Given the description of an element on the screen output the (x, y) to click on. 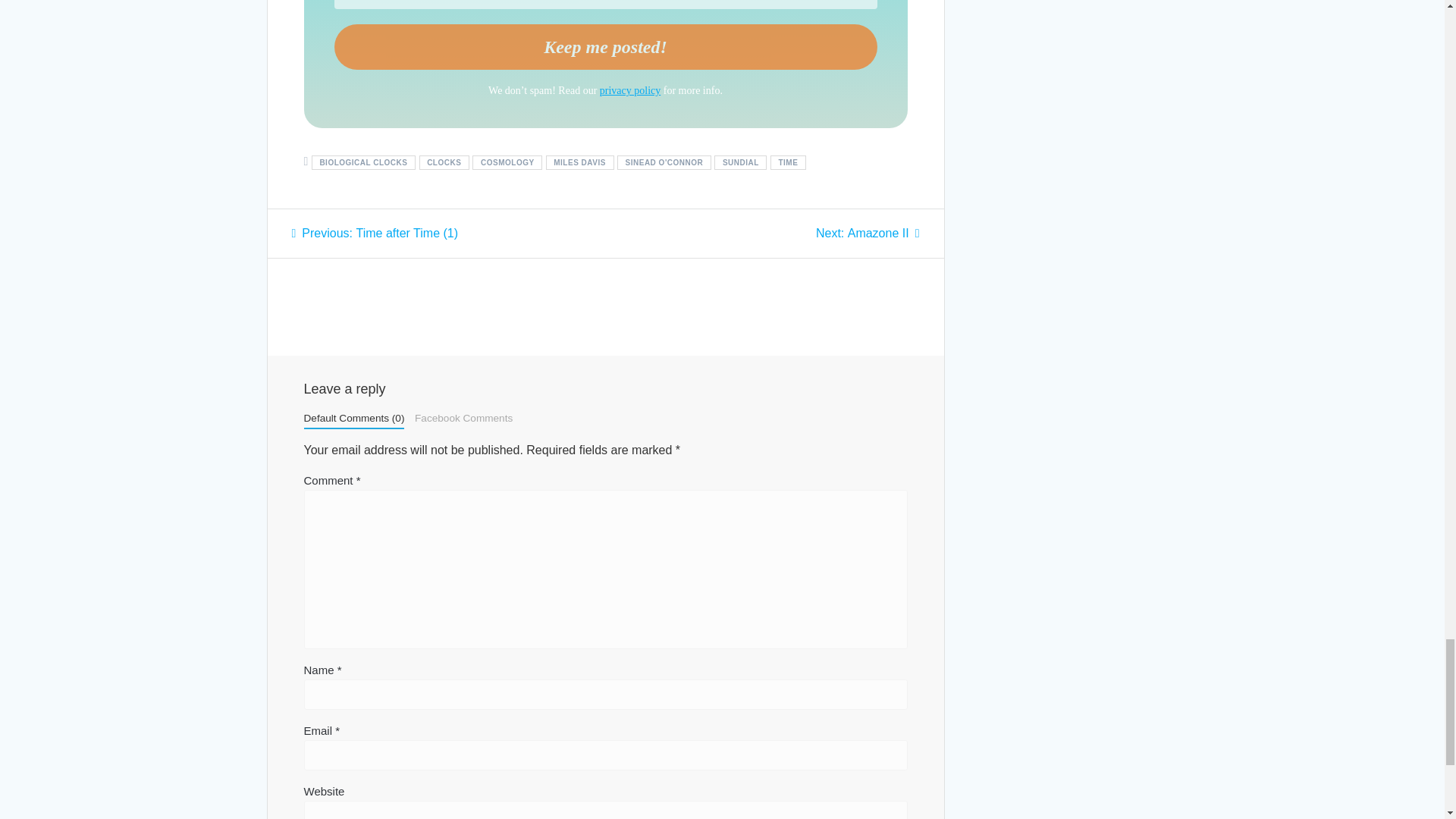
privacy policy (630, 90)
BIOLOGICAL CLOCKS (362, 162)
Keep me posted! (604, 46)
Keep me posted! (604, 46)
